Given the description of an element on the screen output the (x, y) to click on. 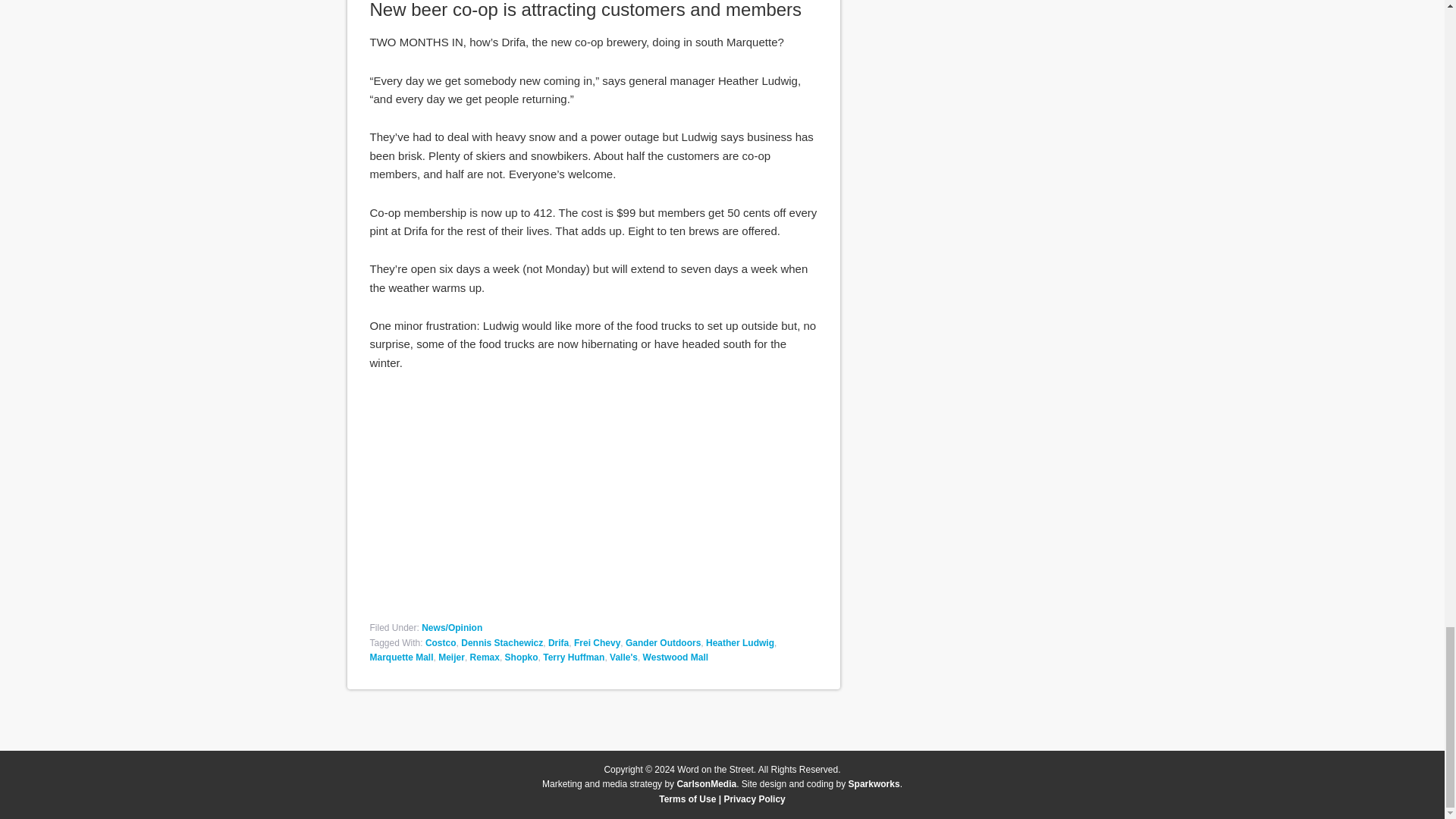
Meijer (451, 656)
Costco (441, 643)
Dennis Stachewicz (502, 643)
Frei Chevy (596, 643)
Drifa (558, 643)
Remax (484, 656)
Gander Outdoors (663, 643)
Heather Ludwig (740, 643)
Marquette Mall (401, 656)
